Given the description of an element on the screen output the (x, y) to click on. 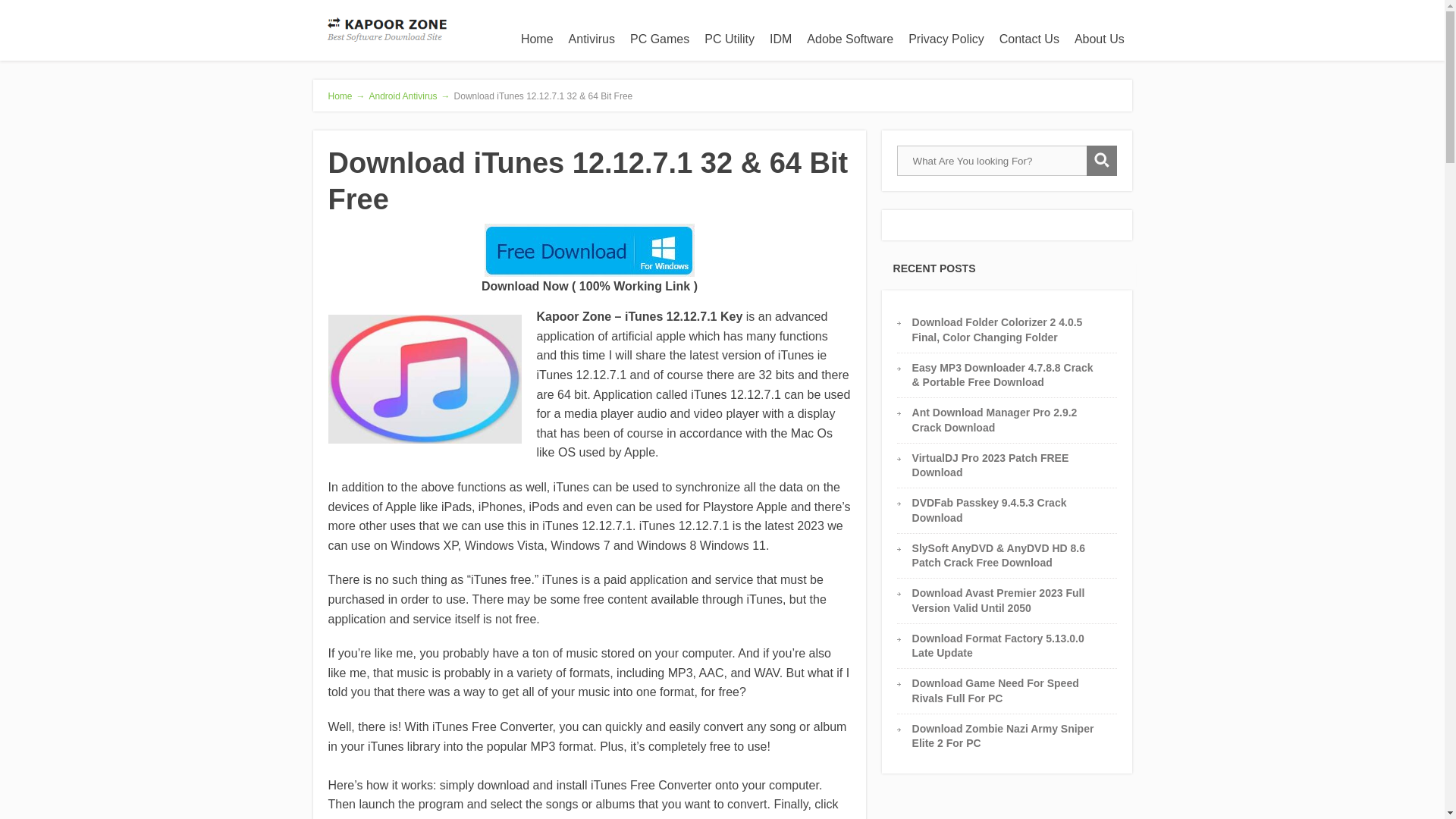
Download Format Factory 5.13.0.0 Late Update (998, 645)
Download Zombie Nazi Army Sniper Elite 2 For PC (1003, 735)
Download Game Need For Speed Rivals Full For PC (996, 690)
VirtualDJ Pro 2023 Patch FREE Download (990, 465)
Contact Us (1029, 39)
Home (536, 39)
Download Avast Premier 2023 Full Version Valid Until 2050 (998, 600)
PC Games (660, 39)
Antivirus (591, 39)
